Given the description of an element on the screen output the (x, y) to click on. 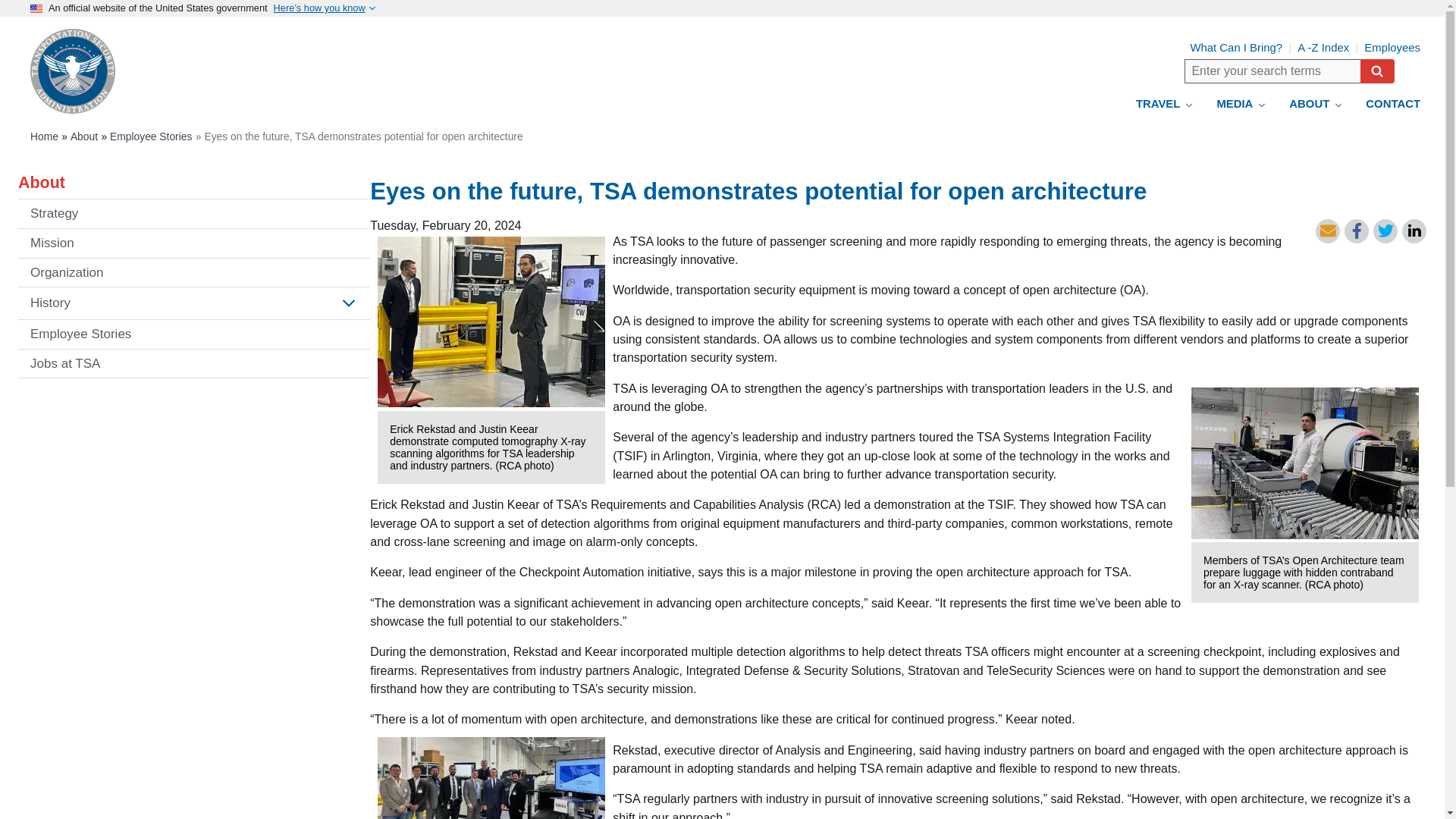
Enter the terms you wish to search for. (1272, 70)
Share via 'Linkedin' (1414, 231)
MEDIA (1240, 103)
Employee Stories (193, 334)
About (83, 136)
What Can I Bring? (1235, 47)
Share via 'Facebook' (1355, 231)
Home (44, 136)
Share via 'Twitter' (1385, 231)
Employees (1392, 47)
Skip to main content (691, 1)
ABOUT (1315, 103)
A -Z Index (1323, 47)
Mission (193, 243)
